Given the description of an element on the screen output the (x, y) to click on. 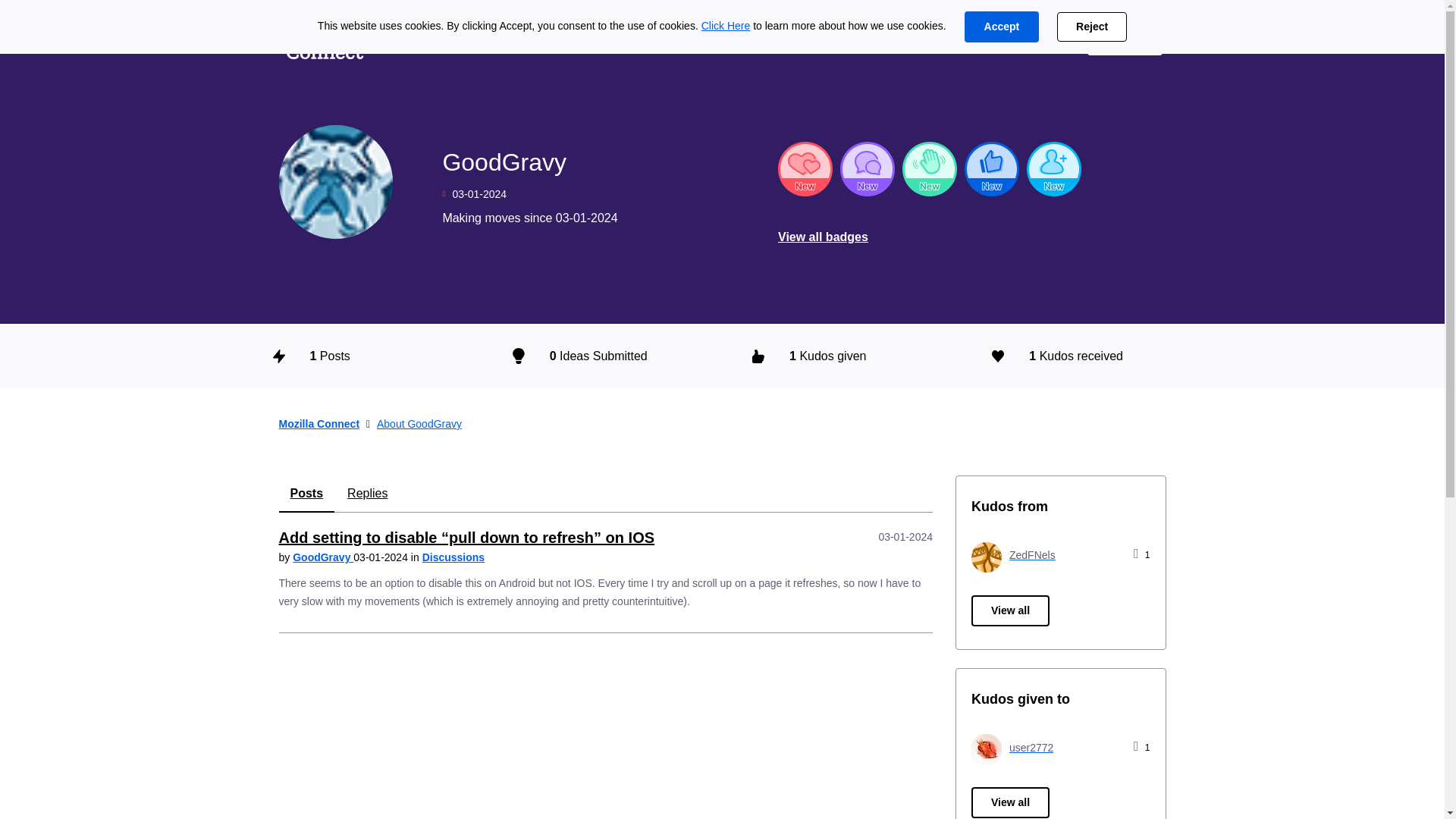
Team Player (991, 168)
Accept (1001, 26)
Discussions (453, 557)
Replies (367, 493)
Discussions (500, 39)
ZedFNels (986, 557)
user2772 (1011, 747)
Ideas (411, 39)
Sign In (1124, 39)
View all (1010, 610)
Mozilla Connect (319, 423)
Reject (1091, 26)
ZedFNels (1013, 555)
Convo Starter (867, 168)
View all (1010, 802)
